Given the description of an element on the screen output the (x, y) to click on. 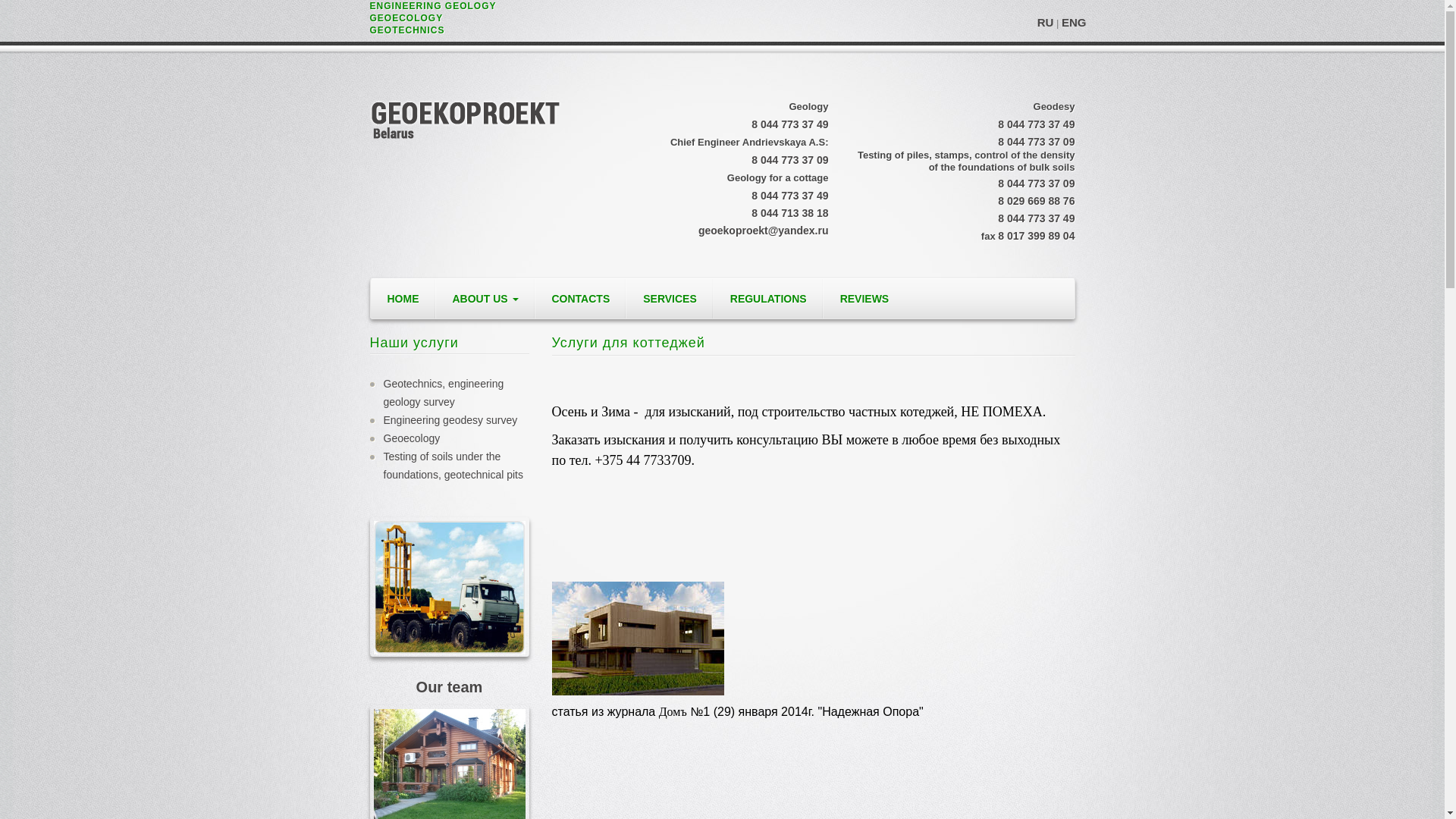
8 044 773 37 49 Element type: text (1035, 124)
REVIEWS Element type: text (864, 298)
8 044 773 37 09 Element type: text (789, 159)
SERVICES Element type: text (669, 298)
REGULATIONS Element type: text (768, 298)
8 044 773 37 49 Element type: text (789, 124)
8 044 713 38 18 Element type: text (789, 213)
8 017 399 89 04 Element type: text (1035, 235)
ENG Element type: text (1073, 21)
8 044 773 37 09 Element type: text (1035, 141)
HOME Element type: text (402, 298)
Our team Element type: text (449, 688)
Geoecology Element type: text (449, 438)
8 044 773 37 49 Element type: text (789, 195)
8 044 773 37 09 Element type: text (1035, 183)
Testing of soils under the foundations, geotechnical pits Element type: text (449, 465)
Geotechnics, engineering geology survey Element type: text (449, 392)
8 044 773 37 49 Element type: text (1035, 218)
ABOUT US Element type: text (484, 298)
CONTACTS Element type: text (581, 298)
geoekoproekt@yandex.ru Element type: text (763, 230)
8 029 669 88 76 Element type: text (1035, 200)
RU Element type: text (1045, 21)
Engineering geodesy survey Element type: text (449, 420)
